Given the description of an element on the screen output the (x, y) to click on. 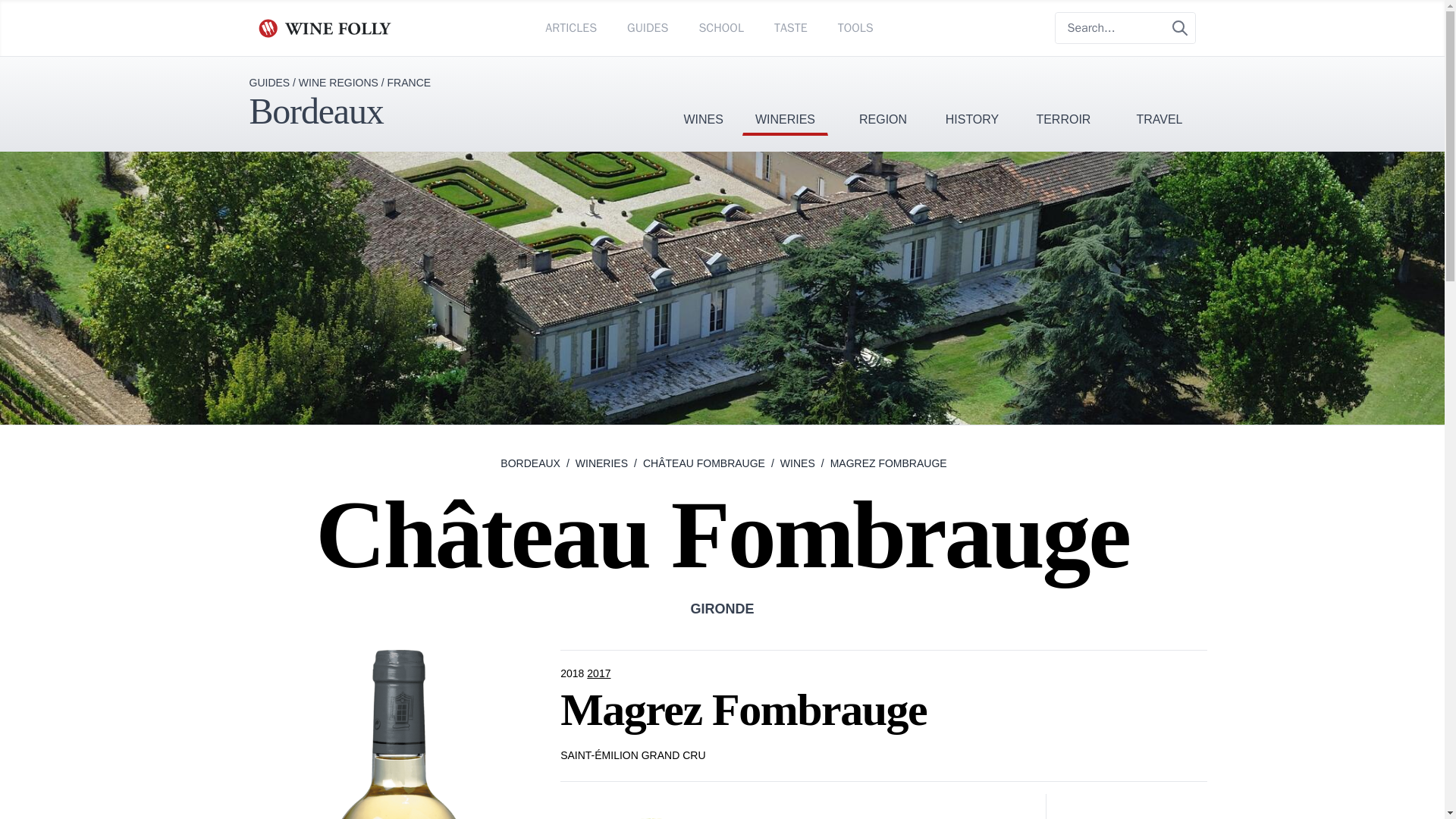
BORDEAUX (530, 462)
Bordeaux (315, 110)
GUIDES (647, 27)
SCHOOL (720, 27)
TRAVEL (1158, 95)
REGION (882, 95)
GUIDES (268, 82)
2017 (599, 672)
2018 (573, 672)
HISTORY (972, 95)
